Given the description of an element on the screen output the (x, y) to click on. 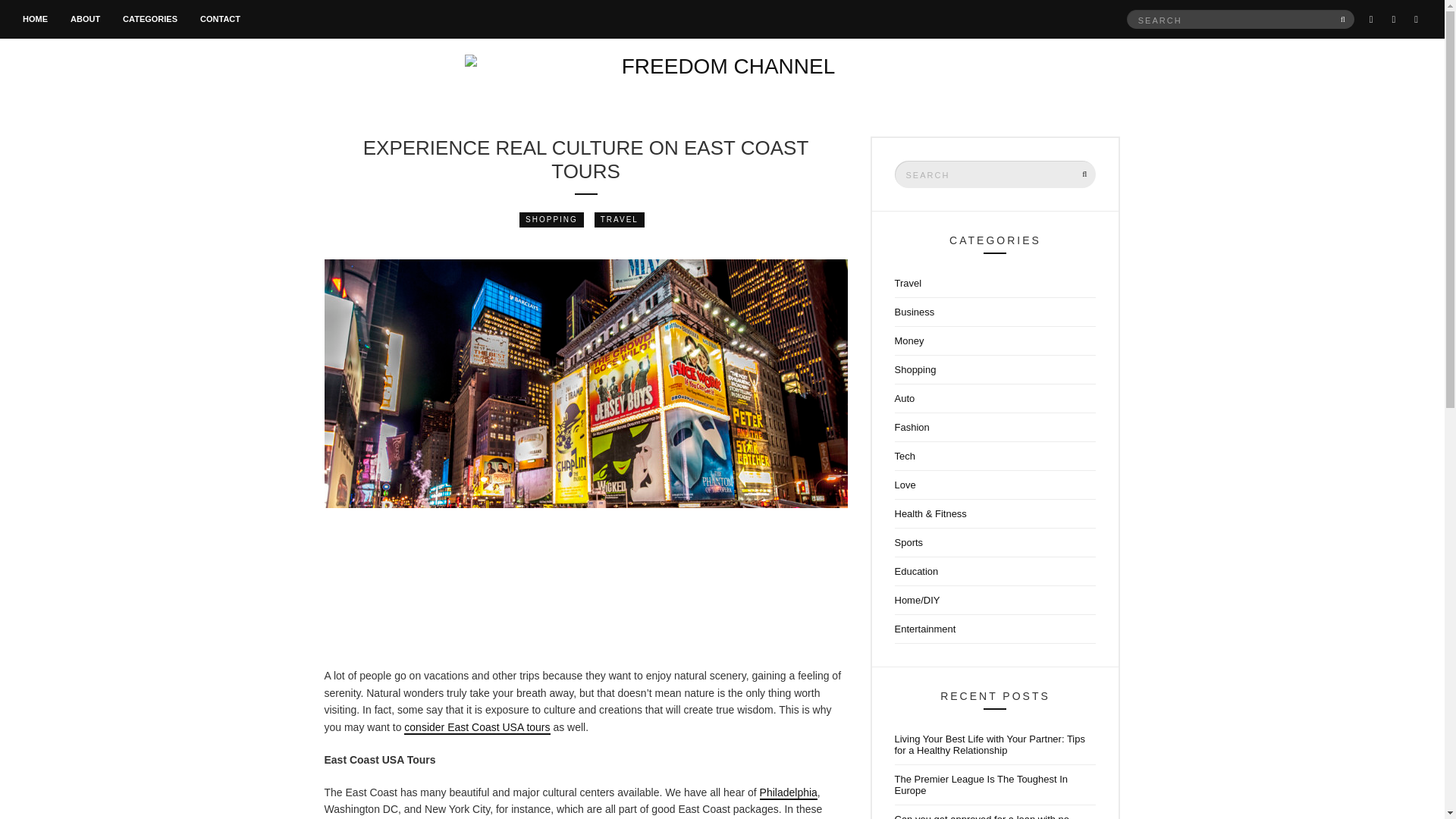
TRAVEL (619, 219)
Search (1343, 18)
CATEGORIES (149, 19)
ABOUT (84, 19)
Philadelphia (788, 793)
SHOPPING (551, 219)
consider East Coast USA tours (477, 727)
CONTACT (220, 19)
HOME (35, 19)
